Given the description of an element on the screen output the (x, y) to click on. 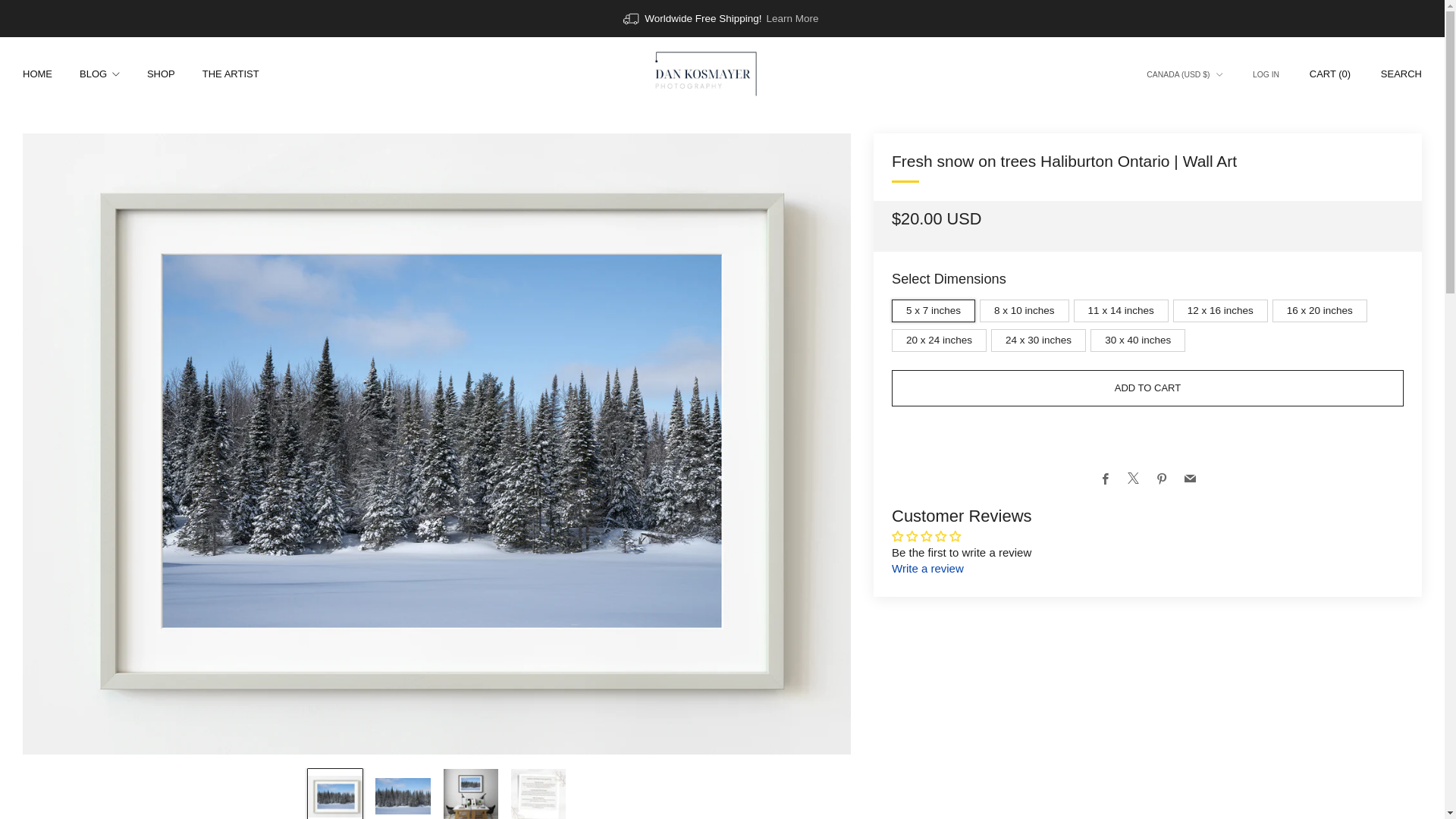
30 x 40 inches (1139, 337)
5 x 7 inches (935, 307)
Learn More (792, 18)
24 x 30 inches (1040, 337)
BLOG (99, 73)
16 x 20 inches (1321, 307)
SHOP (160, 73)
THE ARTIST (230, 73)
